Given the description of an element on the screen output the (x, y) to click on. 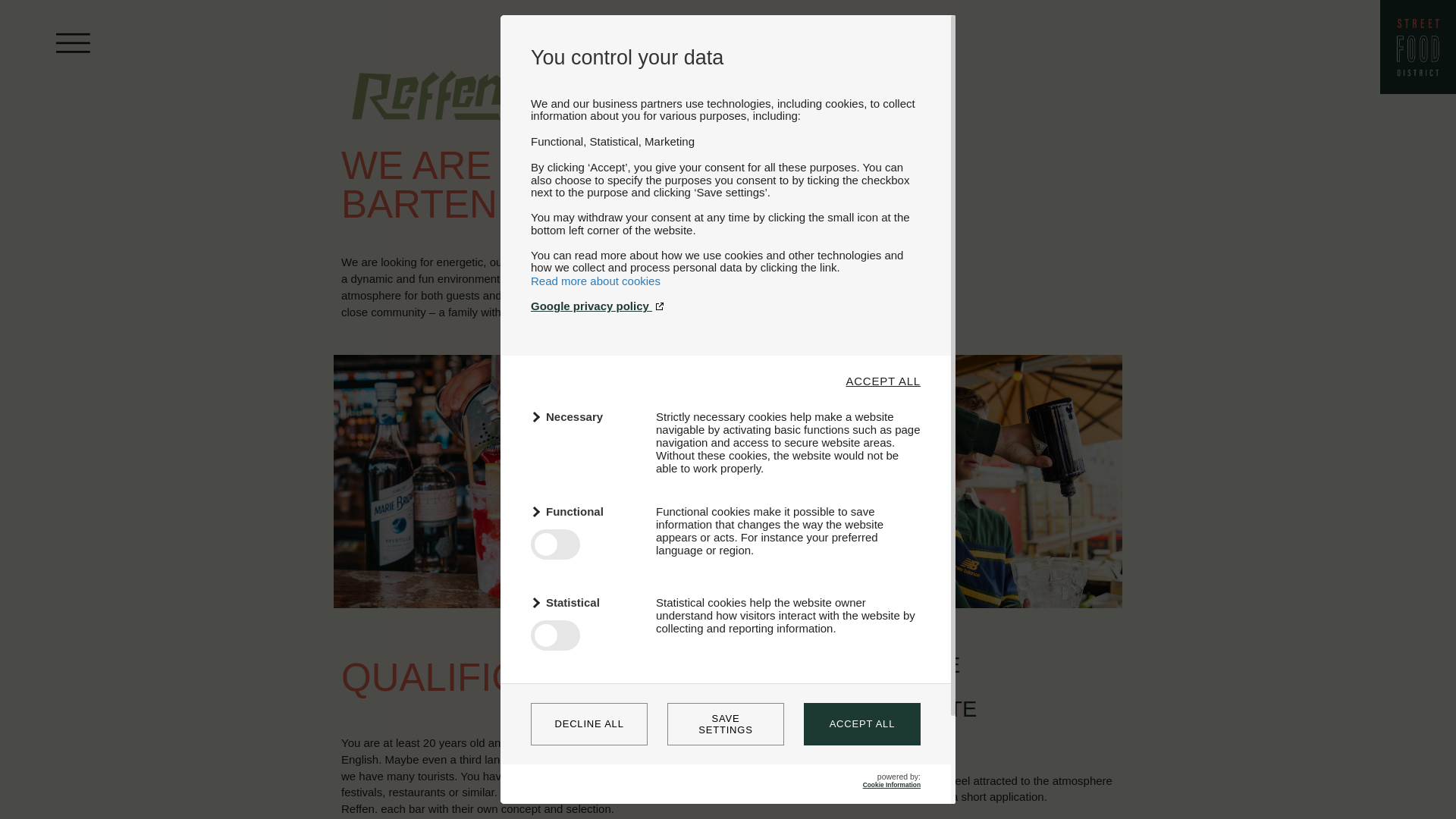
bartender (459, 480)
Cookie Information (891, 784)
Read more about cookies (596, 280)
Functional (584, 511)
ACCEPT ALL (882, 380)
Necessary (584, 416)
Statistical (584, 602)
DECLINE ALL (589, 723)
reffen (427, 111)
ACCEPT ALL (861, 723)
SAVE SETTINGS (725, 723)
Marketing (584, 693)
Google privacy policy (725, 305)
